Given the description of an element on the screen output the (x, y) to click on. 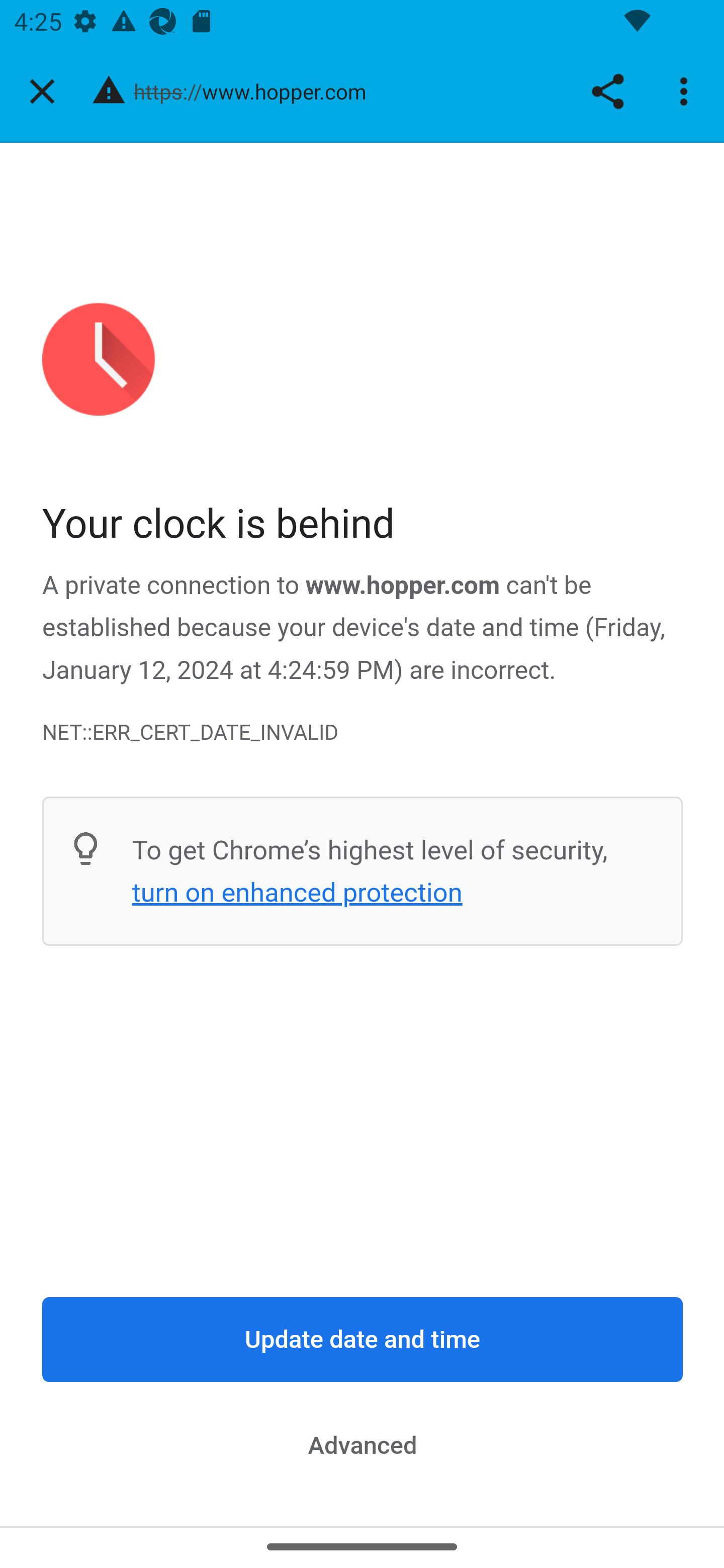
Close tab (42, 91)
Share (607, 91)
More options (687, 91)
This page is dangerous (108, 91)
https://www.hopper.com (256, 90)
NET::ERR_CERT_DATE_INVALID (362, 732)
turn on enhanced protection (296, 892)
Update date and time (362, 1339)
Advanced (362, 1445)
